Given the description of an element on the screen output the (x, y) to click on. 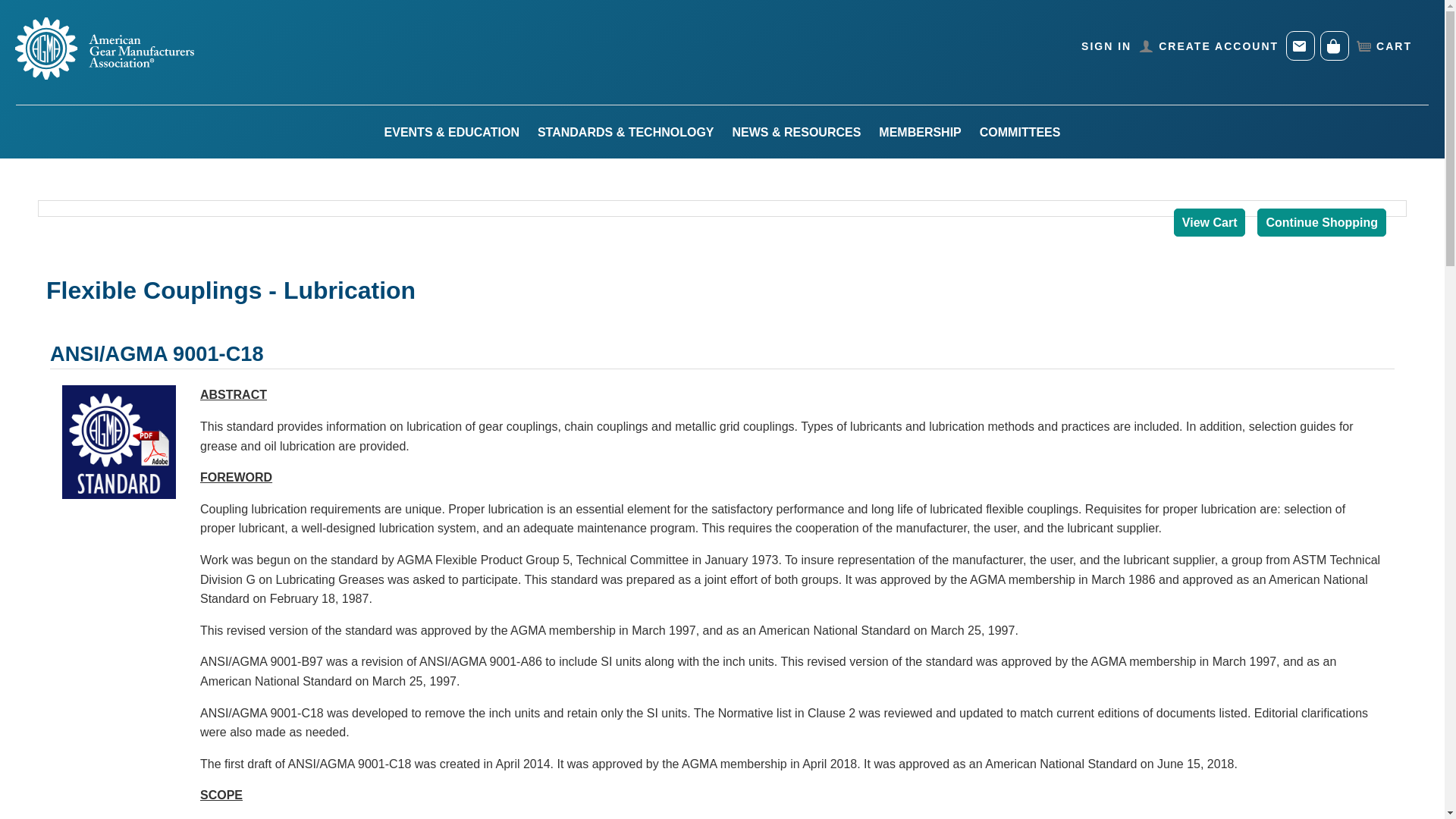
View Cart (1209, 222)
Continue Shopping (1321, 222)
CREATE ACCOUNT (1209, 45)
MEMBERSHIP (919, 132)
WCAG Compliant (50, 11)
COMMITTEES (1020, 132)
SIGN IN (1106, 46)
CART (1383, 45)
